Given the description of an element on the screen output the (x, y) to click on. 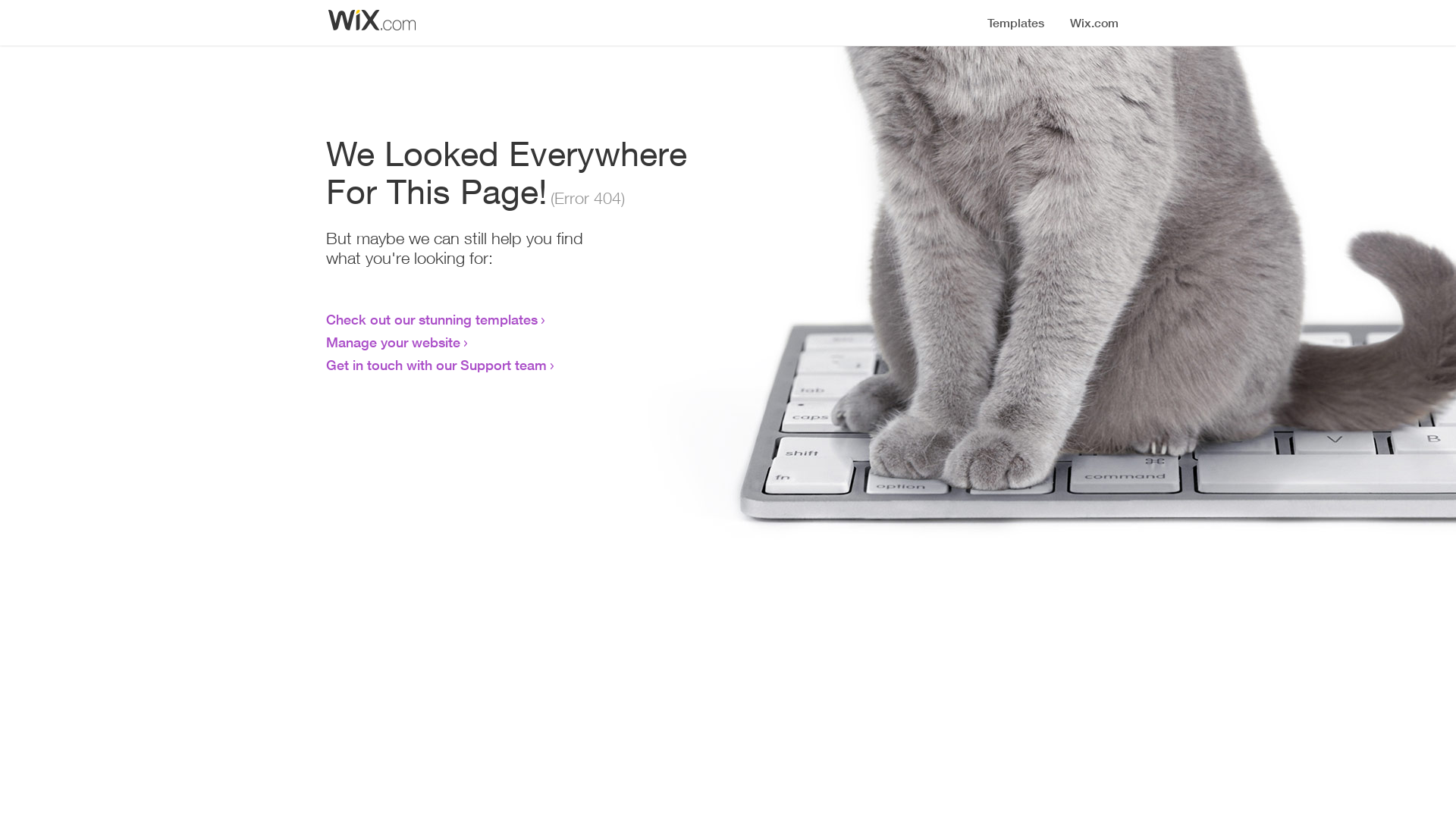
Manage your website Element type: text (393, 341)
Check out our stunning templates Element type: text (431, 318)
Get in touch with our Support team Element type: text (436, 364)
